Given the description of an element on the screen output the (x, y) to click on. 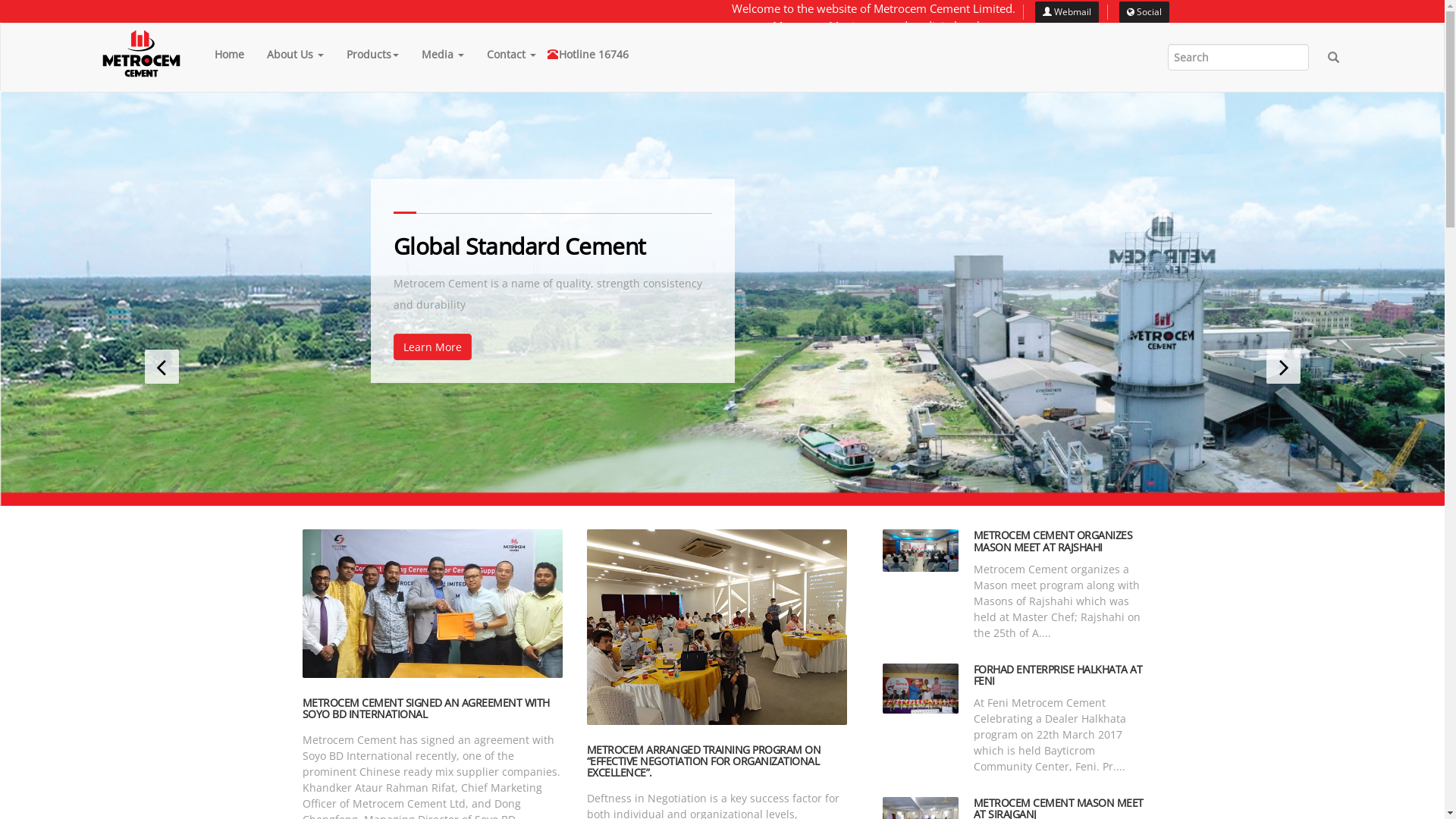
Home Element type: text (229, 53)
About Us Element type: text (295, 53)
Products Element type: text (372, 53)
FORHAD ENTERPRISE HALKHATA AT FENI Element type: text (1057, 674)
Contact Element type: text (511, 53)
Hotline 16746 Element type: text (593, 53)
Jump to navigation Element type: text (0, 0)
METROCEM CEMENT ORGANIZES MASON MEET AT RAJSHAHI Element type: text (1052, 540)
Media Element type: text (442, 53)
Webmail Element type: text (1066, 11)
Webmail Element type: text (1066, 10)
Social Element type: text (1143, 11)
Learn More Element type: text (431, 346)
